Given the description of an element on the screen output the (x, y) to click on. 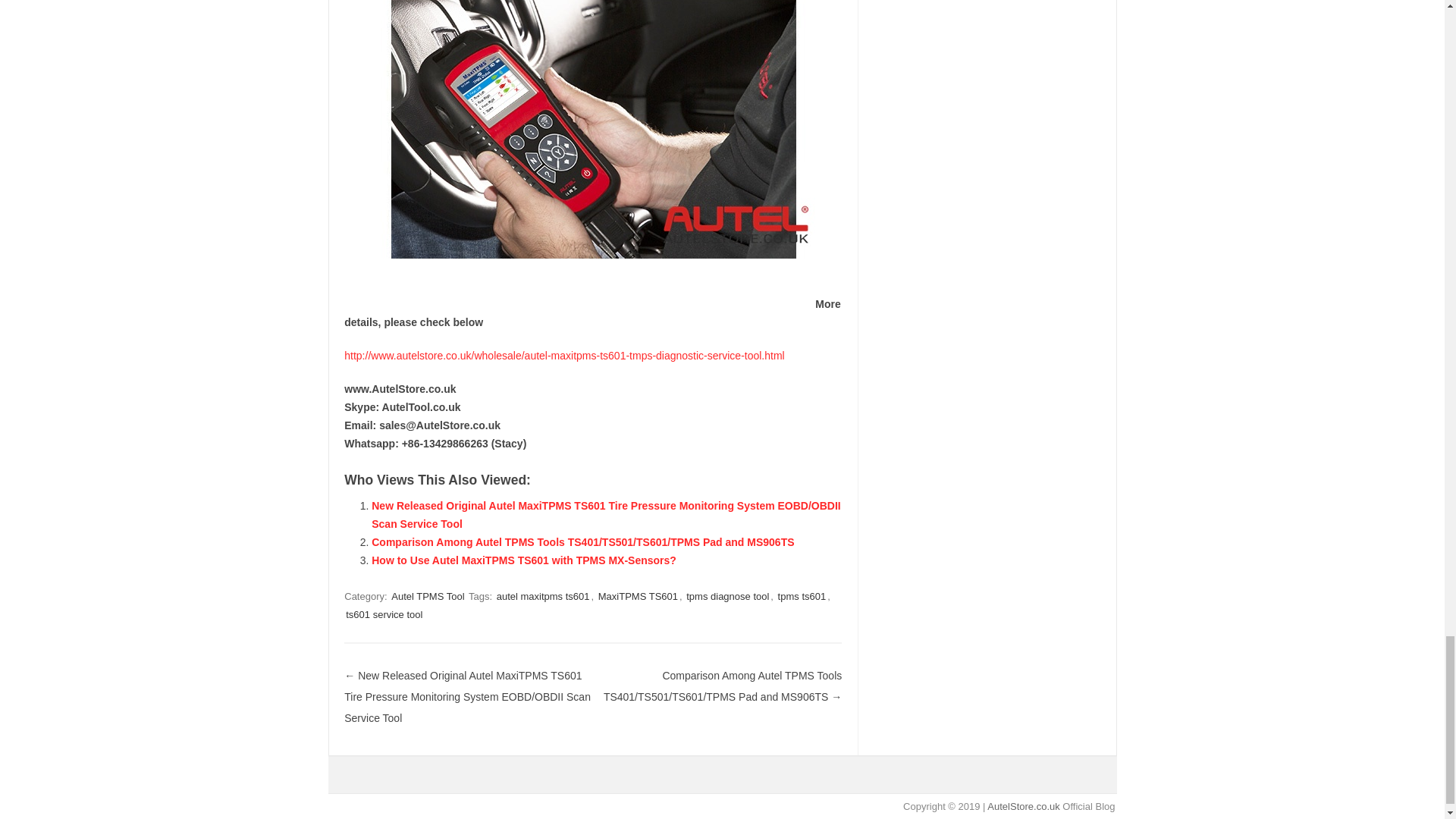
autel maxitpms ts601 (543, 595)
tpms diagnose tool (727, 595)
How to Use Autel MaxiTPMS TS601 with TPMS MX-Sensors? (524, 560)
Autel TPMS Tool (427, 595)
MaxiTPMS TS601 (637, 595)
How to Use Autel MaxiTPMS TS601 with TPMS MX-Sensors? (524, 560)
